Given the description of an element on the screen output the (x, y) to click on. 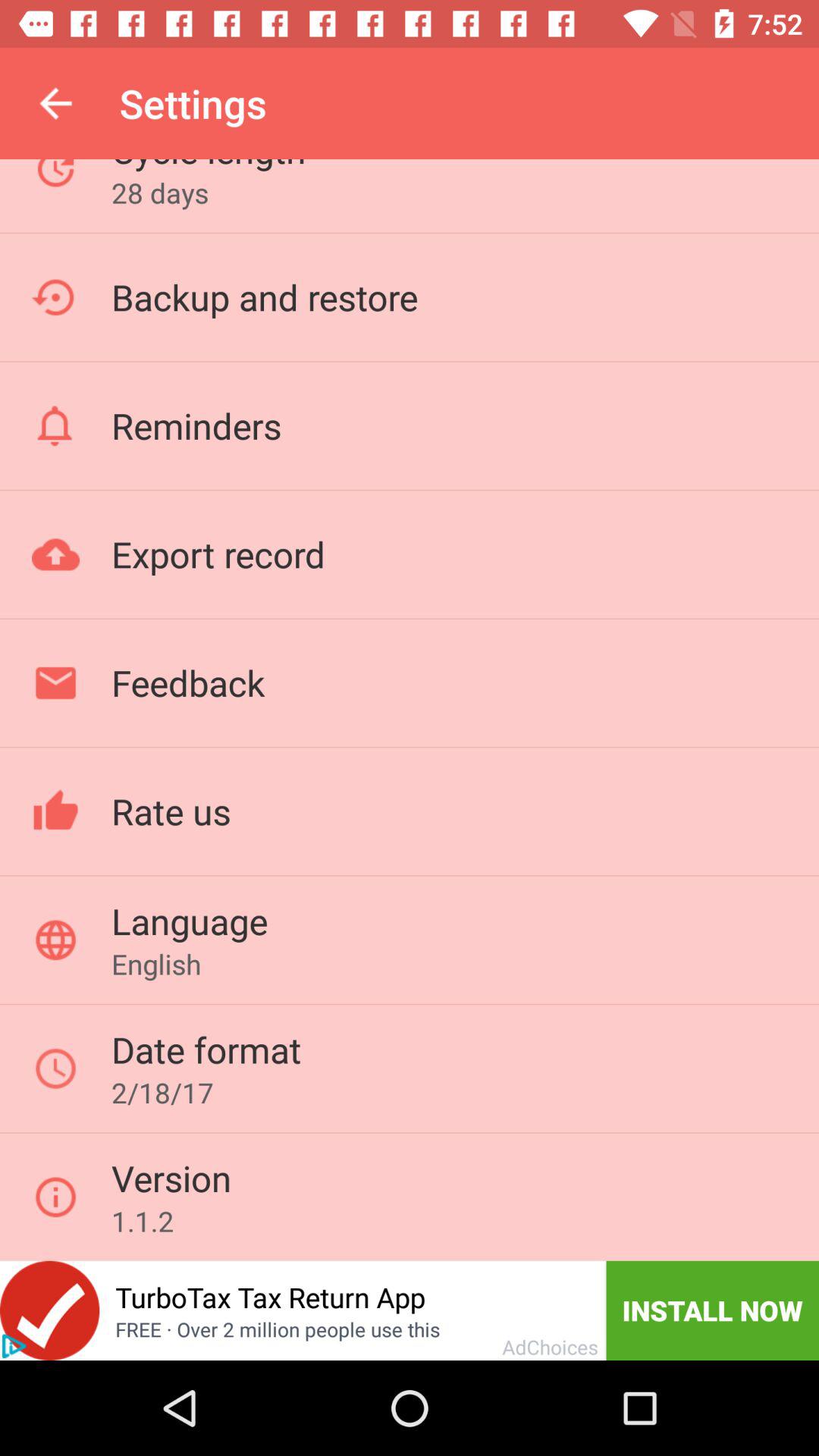
click item next to install now (270, 1297)
